Given the description of an element on the screen output the (x, y) to click on. 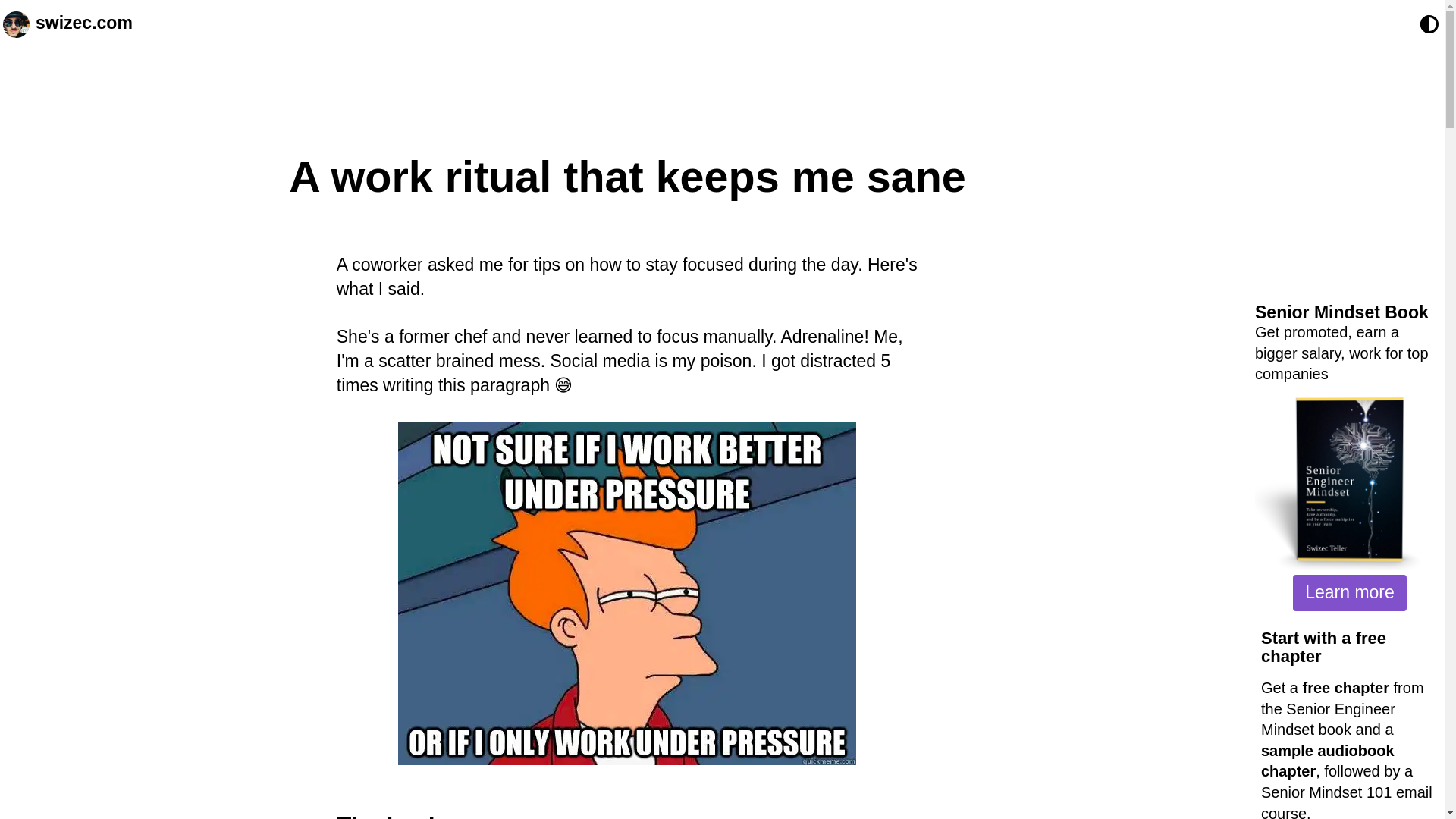
Swizec Teller - a geek with a hat (15, 23)
Learn more (1349, 592)
swizec.com (83, 23)
The basics (398, 815)
Change color mode (1428, 24)
Start with a free chapter (1323, 646)
